Given the description of an element on the screen output the (x, y) to click on. 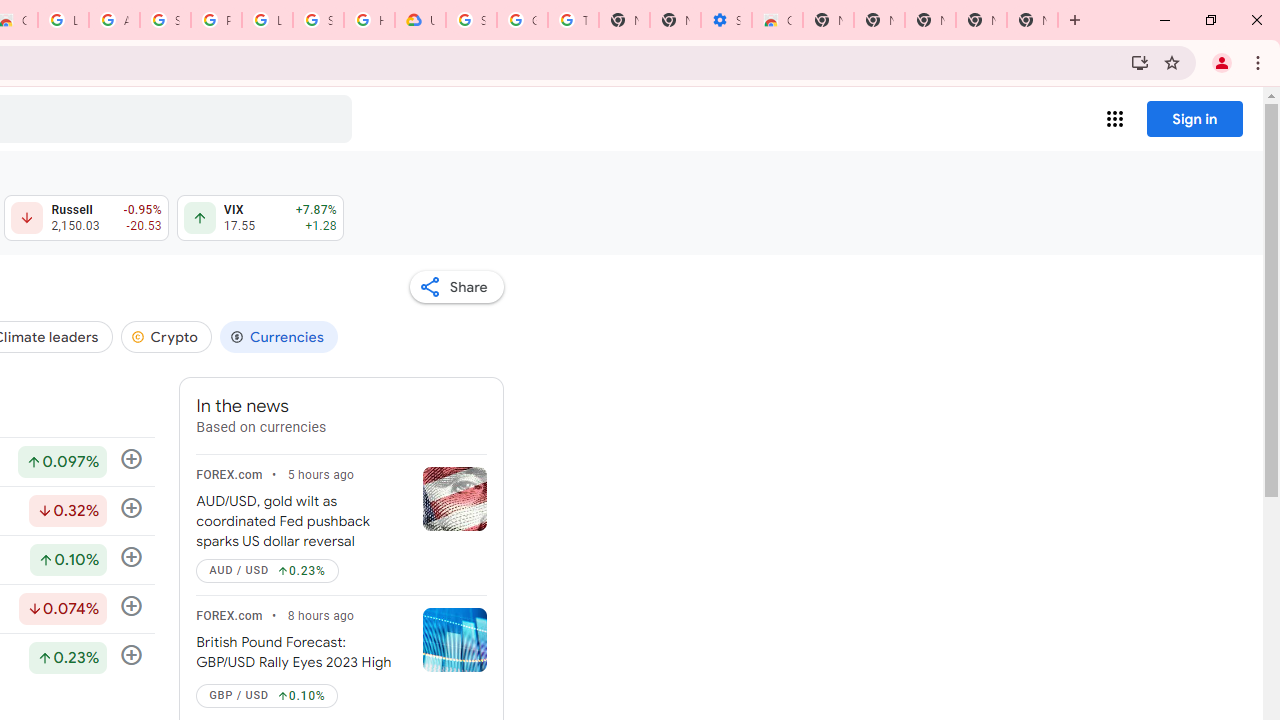
New Tab (1032, 20)
Chrome Web Store - Accessibility extensions (776, 20)
Ad Settings (113, 20)
Sign in (1194, 118)
